Given the description of an element on the screen output the (x, y) to click on. 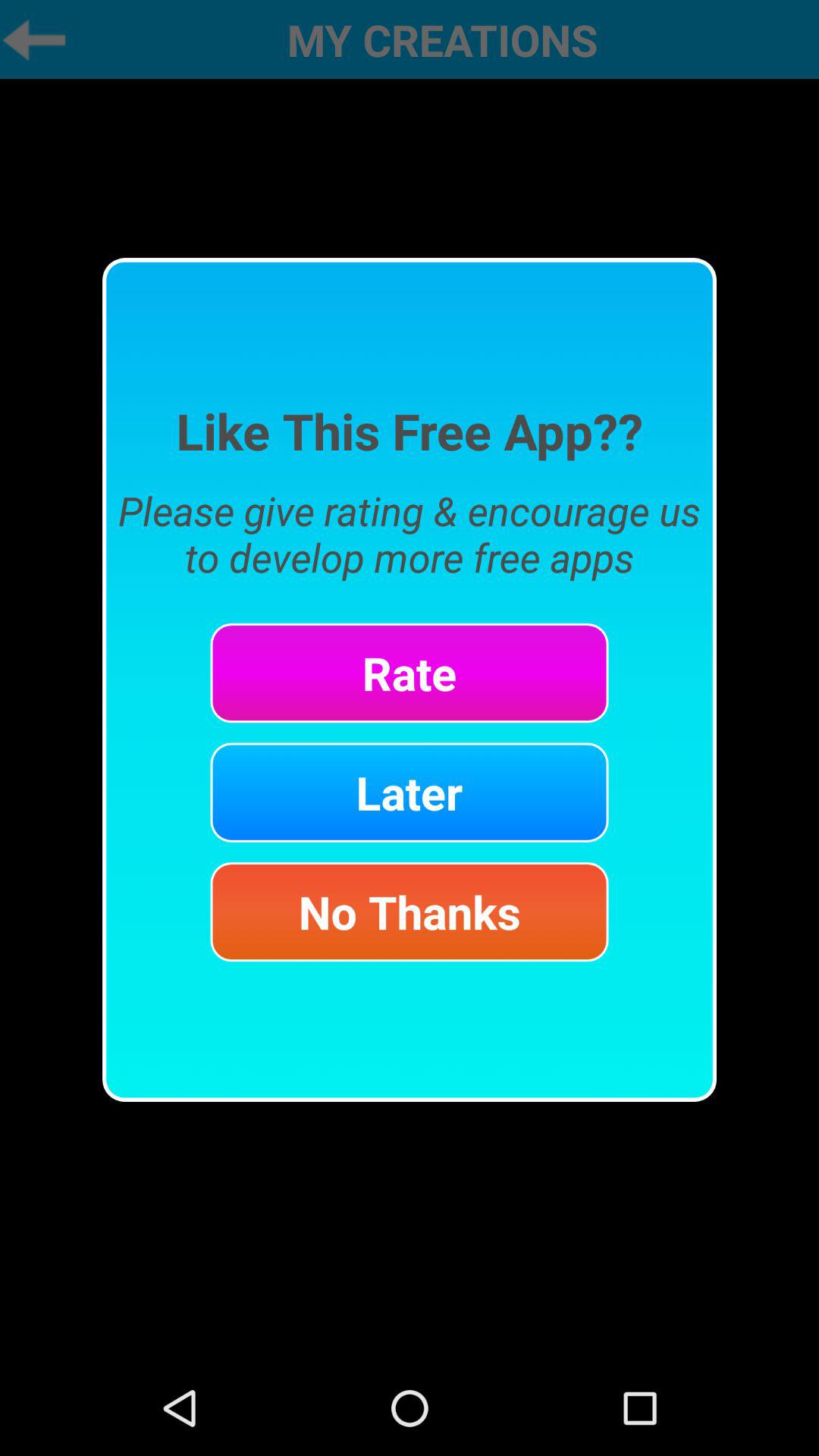
turn off icon above the later icon (409, 672)
